Given the description of an element on the screen output the (x, y) to click on. 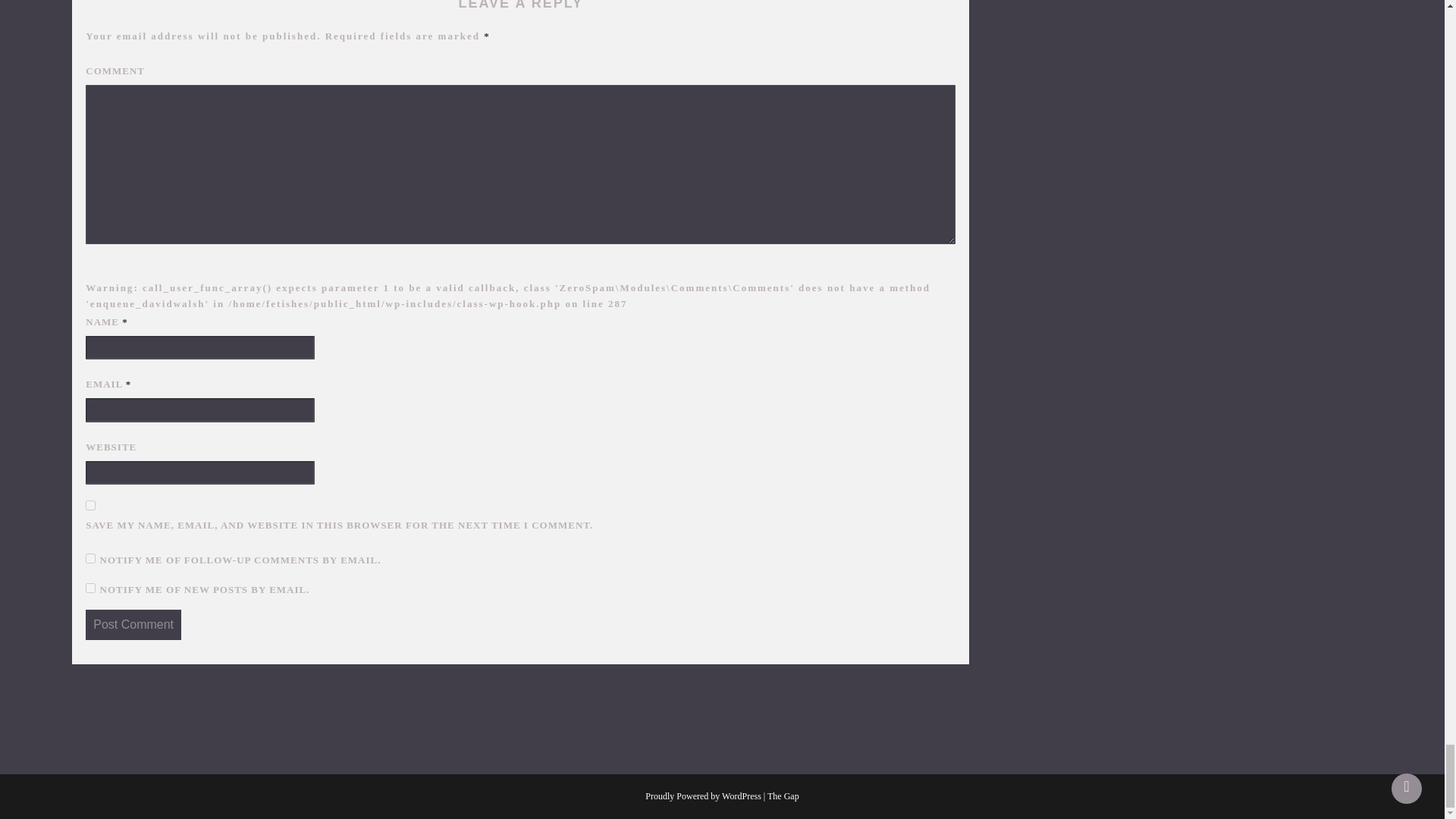
subscribe (90, 558)
Post Comment (132, 624)
yes (90, 505)
subscribe (90, 587)
